Given the description of an element on the screen output the (x, y) to click on. 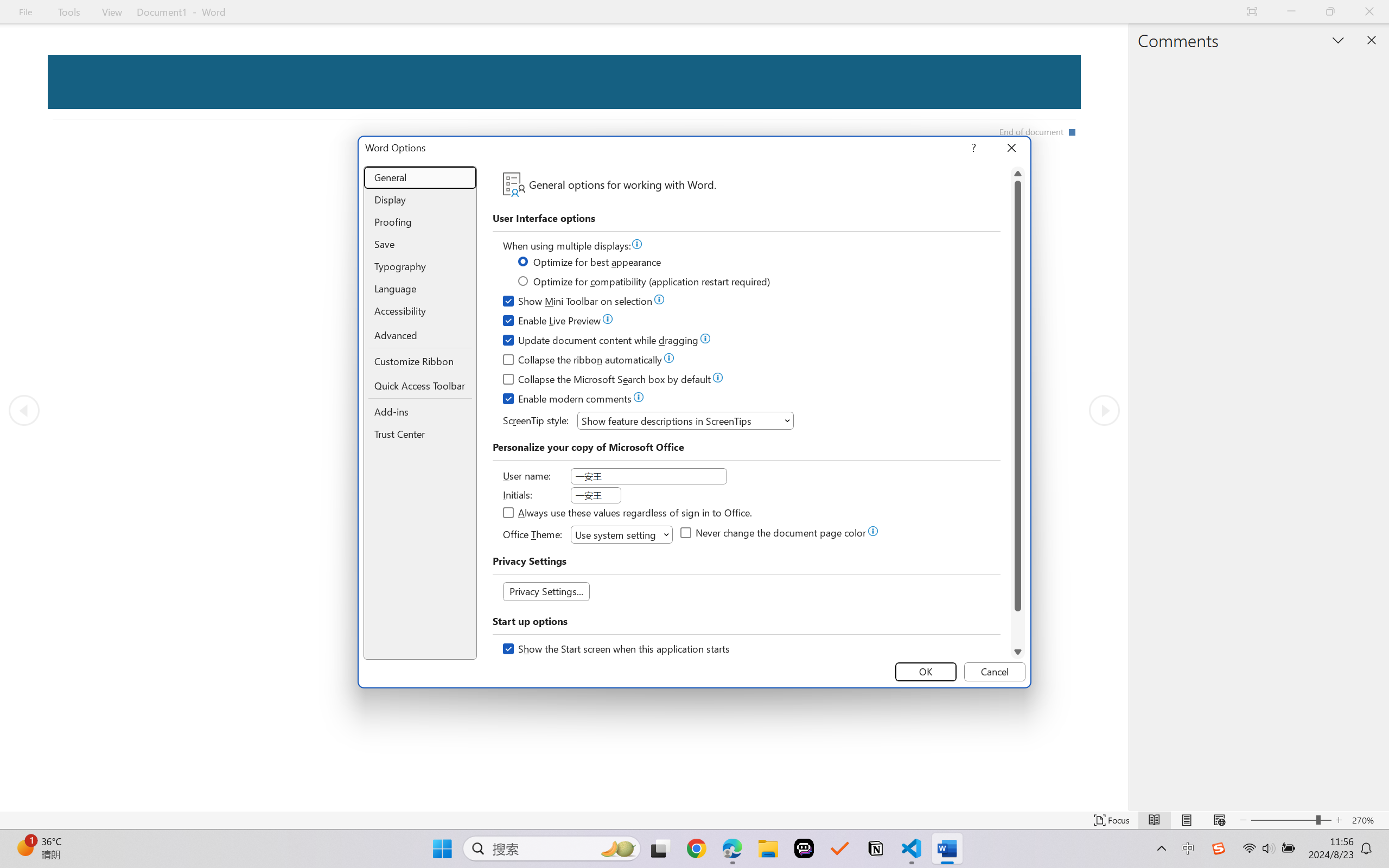
Optimize for compatibility (application restart required) (645, 283)
Enable Live Preview (552, 322)
Update document content while dragging (601, 341)
Display (419, 199)
